Given the description of an element on the screen output the (x, y) to click on. 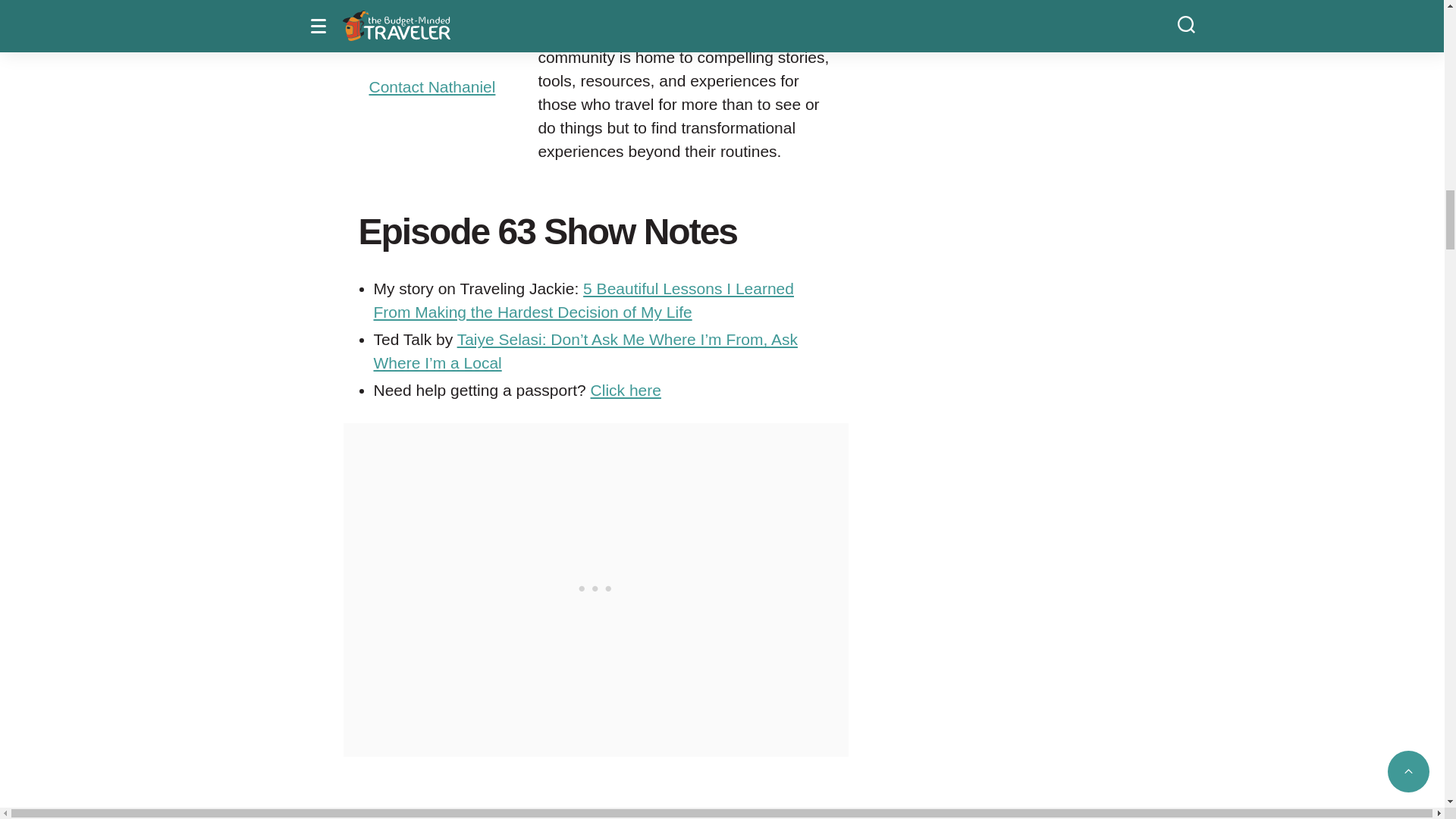
Contact Nathaniel (431, 86)
Click here (626, 389)
